Given the description of an element on the screen output the (x, y) to click on. 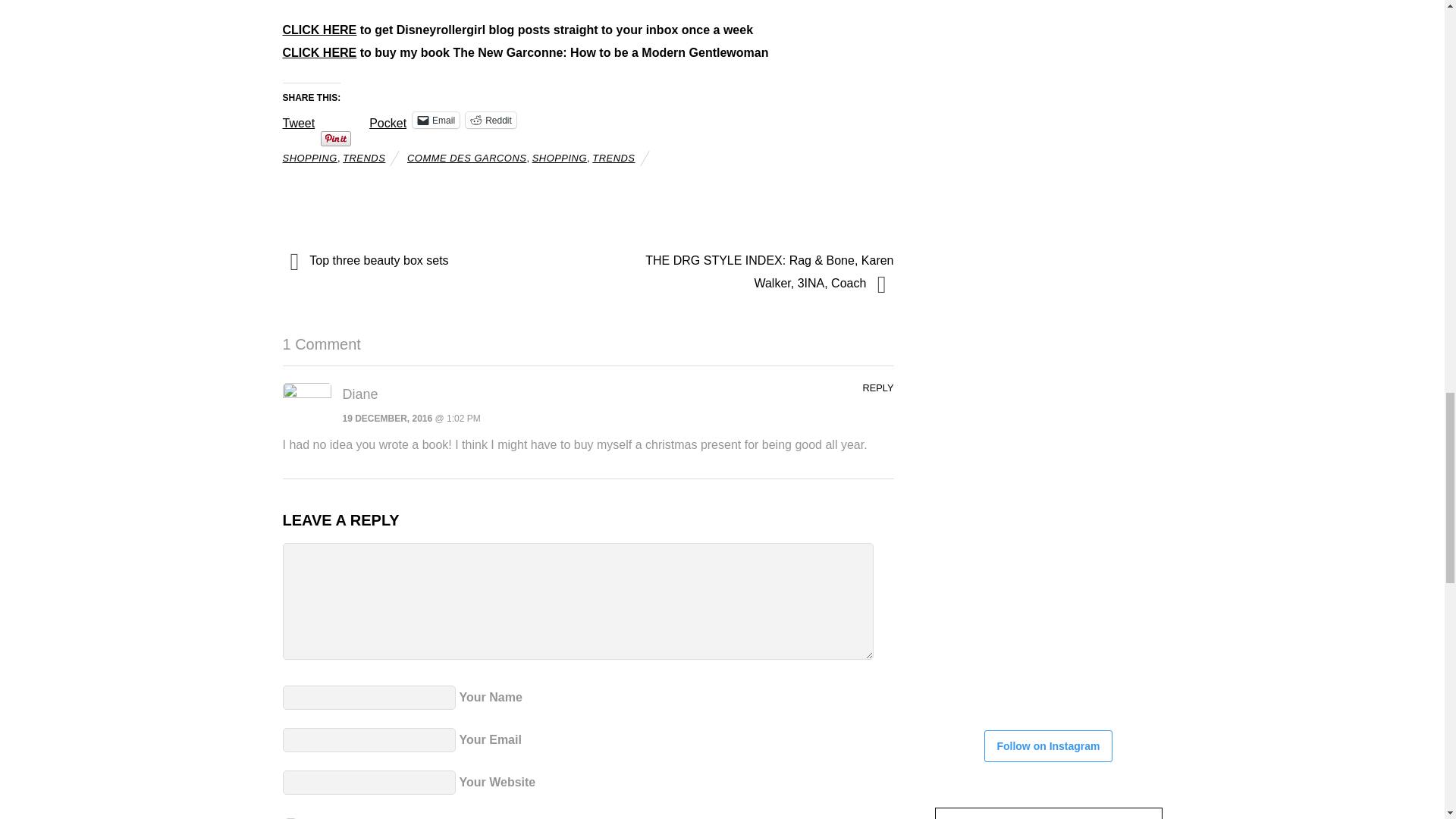
Top three beauty box sets (425, 261)
TRENDS (613, 157)
COMME DES GARCONS (466, 157)
Click to share on Reddit (490, 119)
CLICK HERE (319, 29)
TRENDS (363, 157)
Email (436, 119)
Click to email a link to a friend (436, 119)
CLICK HERE (319, 51)
SHOPPING (559, 157)
Reddit (490, 119)
REPLY (877, 387)
SHOPPING (309, 157)
Tweet (298, 119)
Pocket (387, 123)
